Given the description of an element on the screen output the (x, y) to click on. 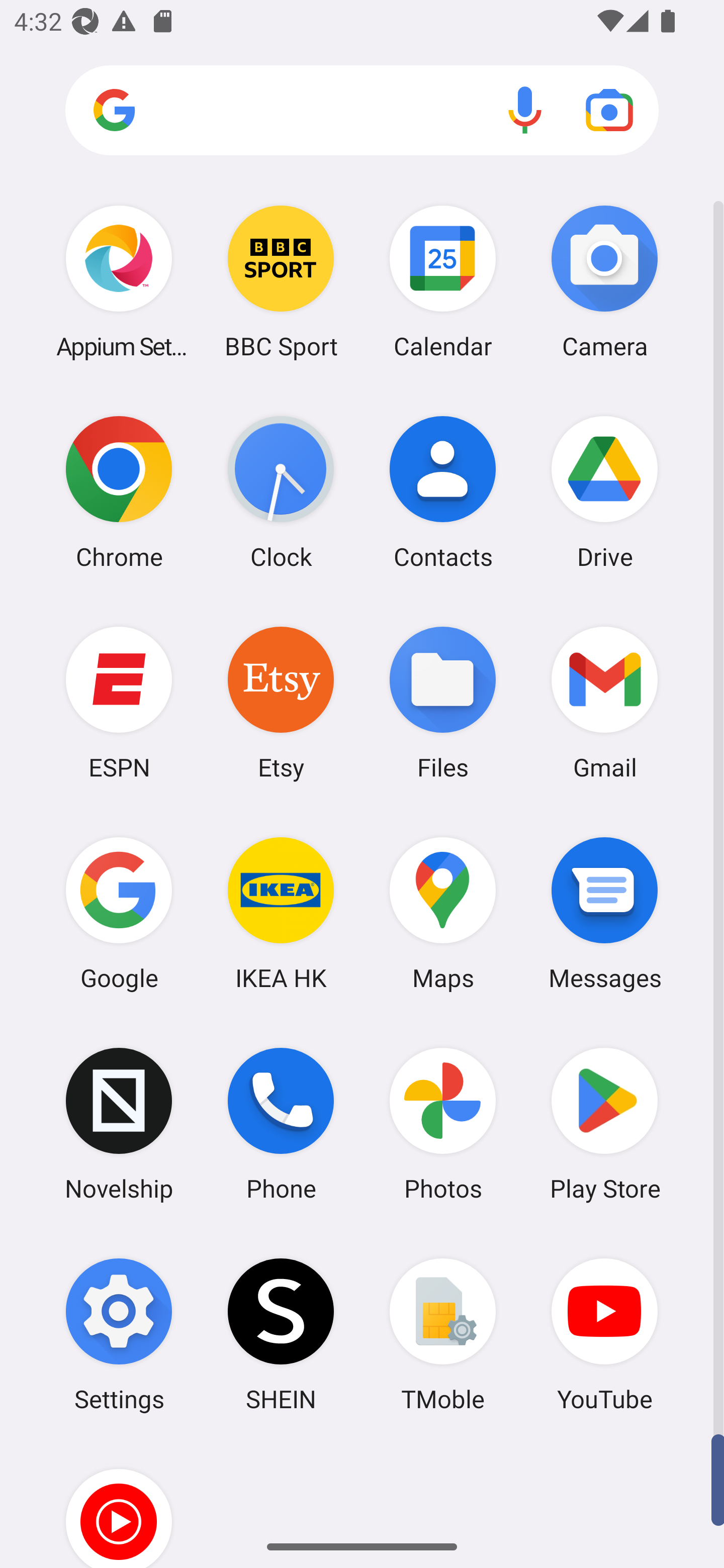
Search apps, web and more (361, 110)
Voice search (524, 109)
Google Lens (608, 109)
Appium Settings (118, 281)
BBC Sport (280, 281)
Calendar (443, 281)
Camera (604, 281)
Chrome (118, 492)
Clock (280, 492)
Contacts (443, 492)
Drive (604, 492)
ESPN (118, 702)
Etsy (280, 702)
Files (443, 702)
Gmail (604, 702)
Google (118, 913)
IKEA HK (280, 913)
Maps (443, 913)
Messages (604, 913)
Novelship (118, 1124)
Phone (280, 1124)
Photos (443, 1124)
Play Store (604, 1124)
Settings (118, 1334)
SHEIN (280, 1334)
TMoble (443, 1334)
YouTube (604, 1334)
YT Music (118, 1503)
